Given the description of an element on the screen output the (x, y) to click on. 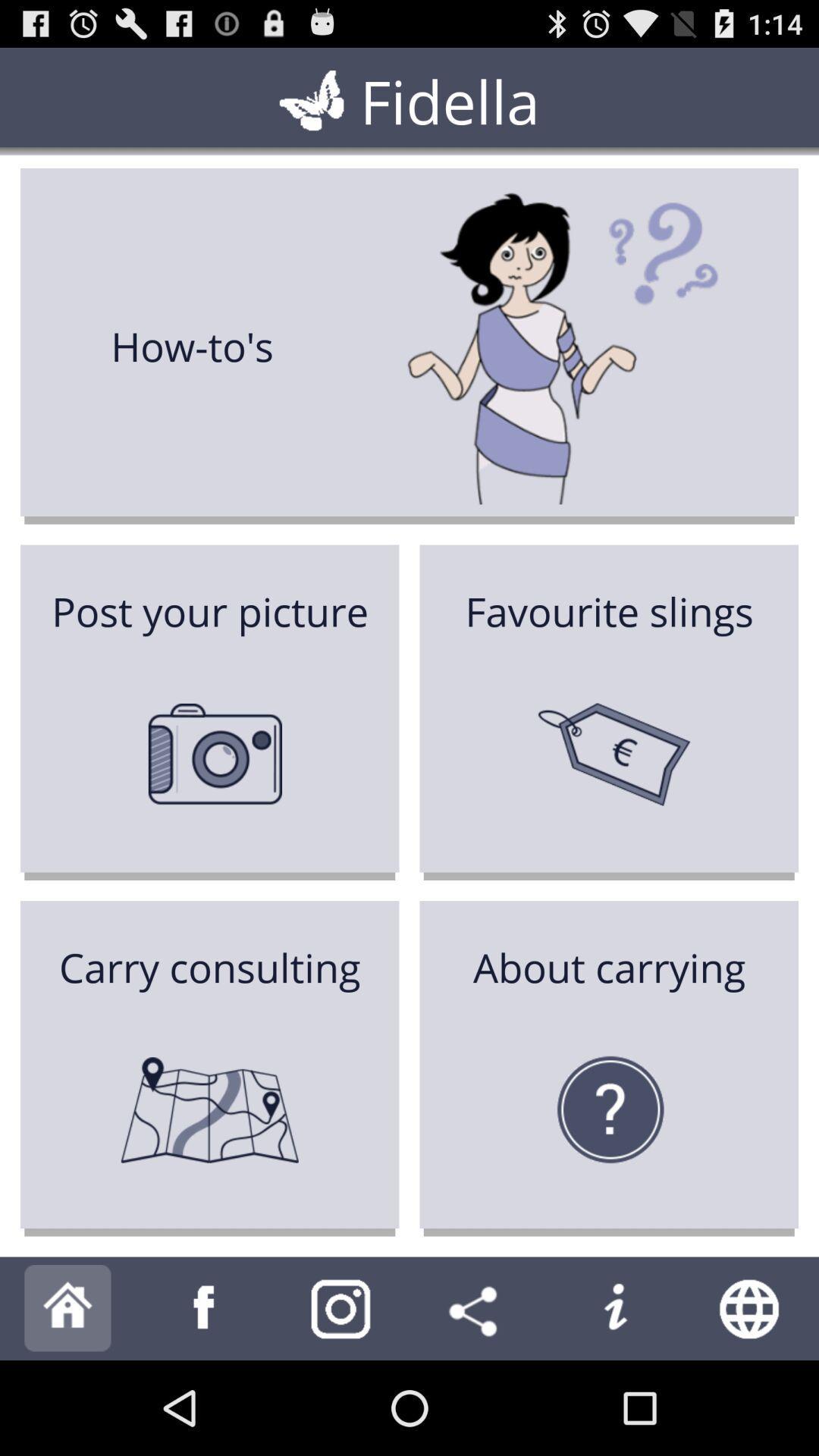
facebook (204, 1308)
